Given the description of an element on the screen output the (x, y) to click on. 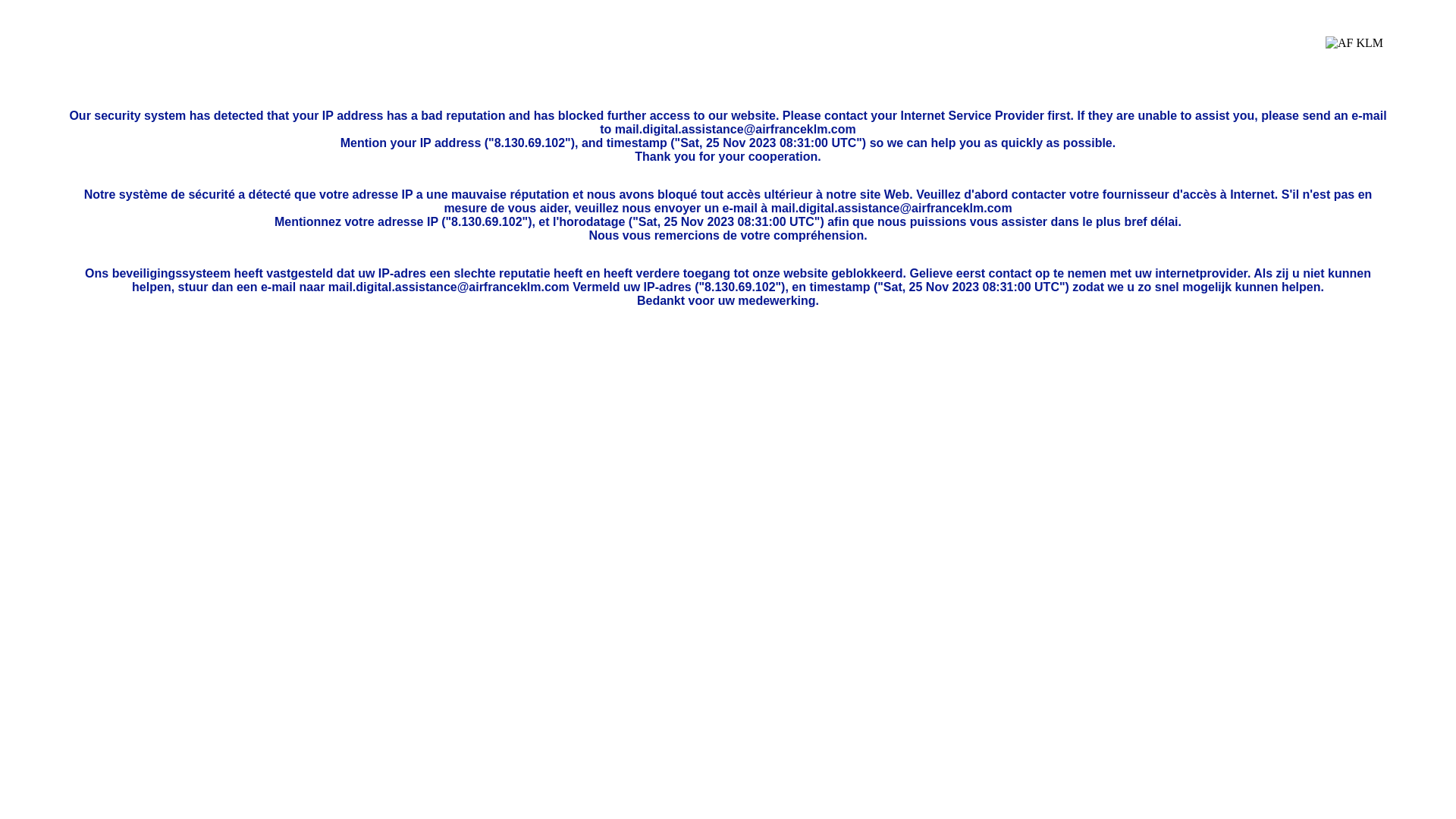
AF KLM Element type: hover (1354, 54)
